Given the description of an element on the screen output the (x, y) to click on. 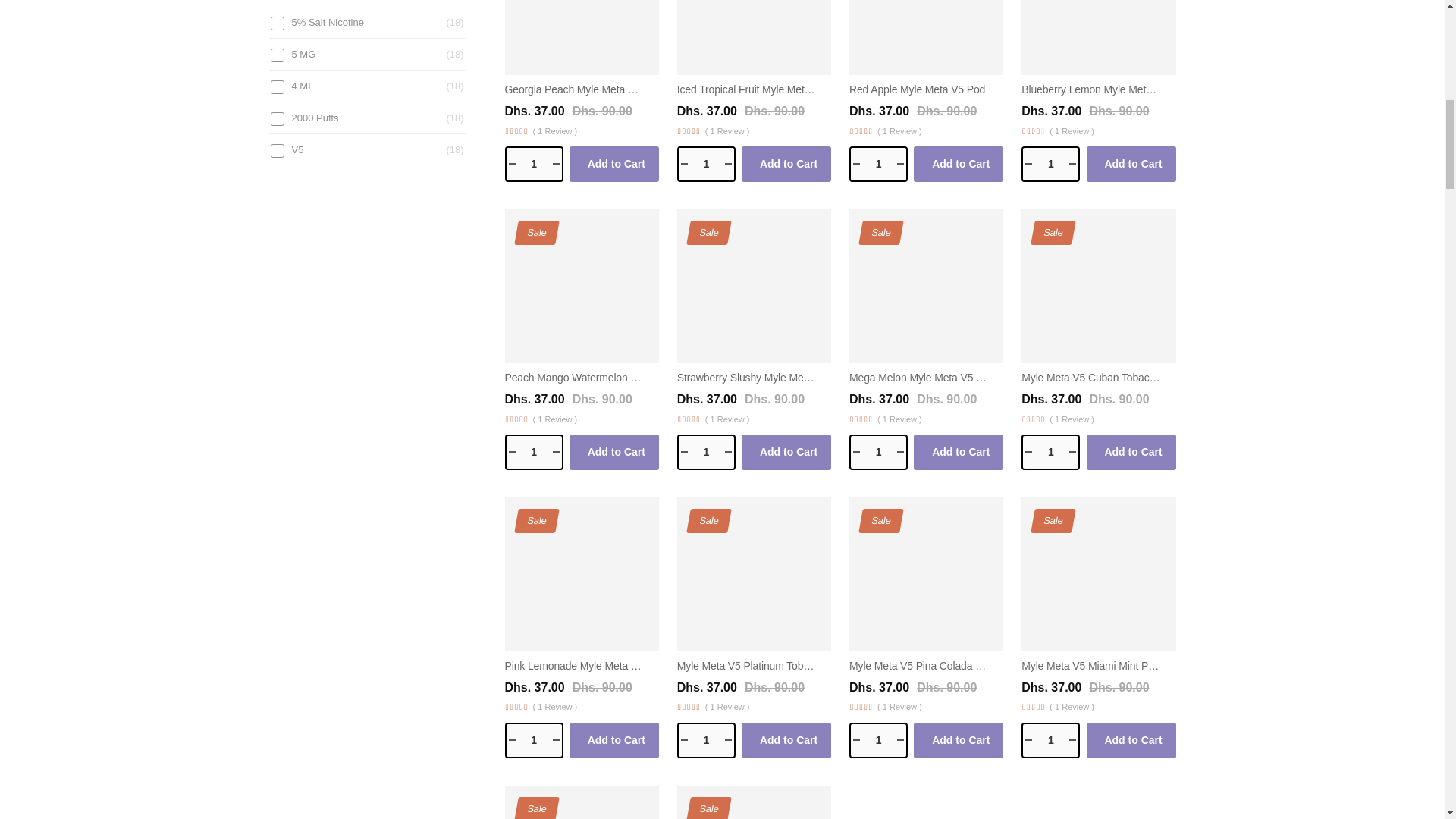
1 (1051, 452)
1 (534, 452)
1 (877, 740)
1 (1051, 163)
1 (534, 163)
1 (1051, 740)
1 (706, 740)
1 (534, 740)
1 (877, 452)
1 (706, 163)
